Given the description of an element on the screen output the (x, y) to click on. 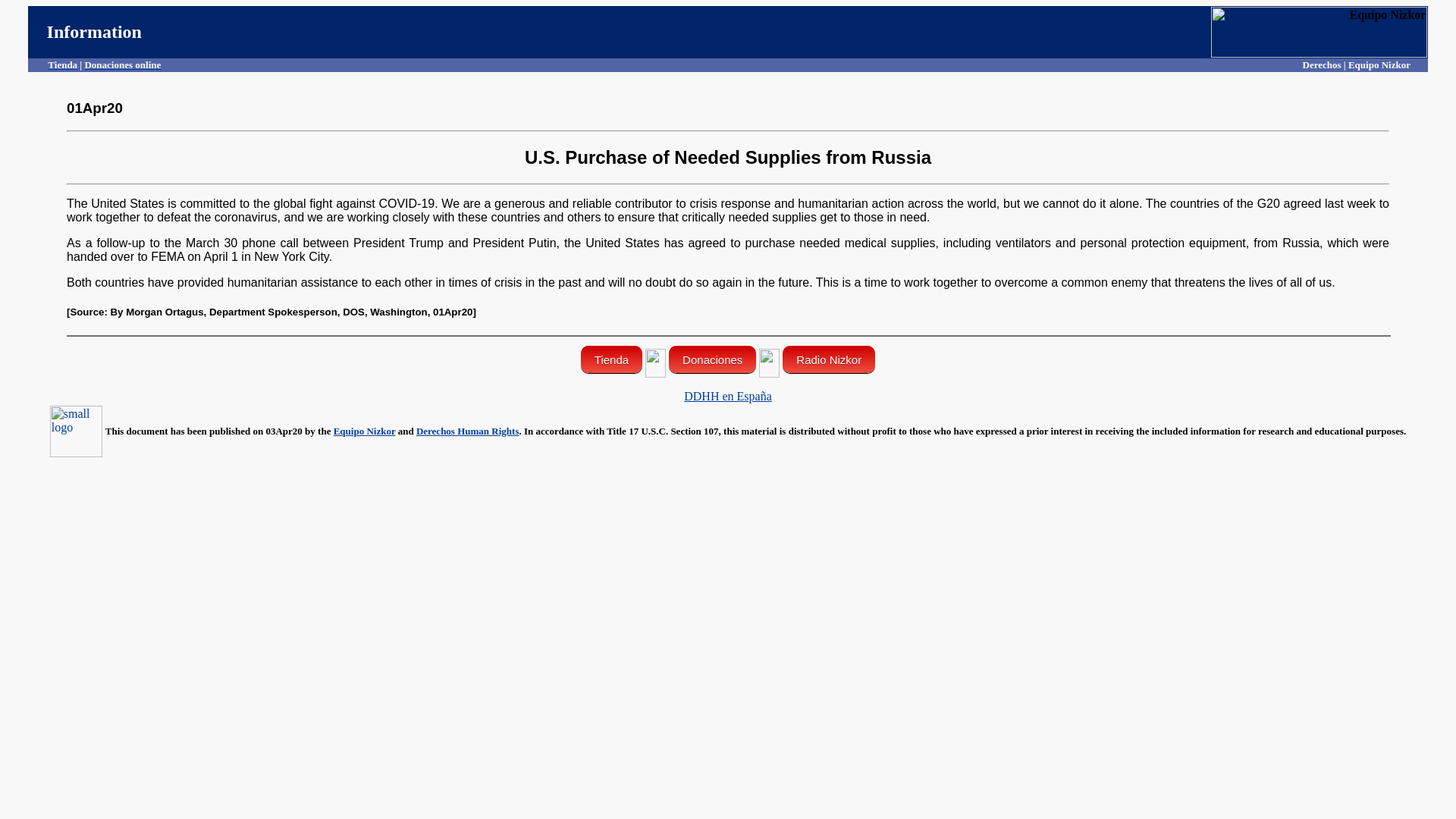
Equipo Nizkor (364, 430)
Donaciones online (122, 64)
Donaciones (711, 359)
Derechos Human Rights (467, 430)
Radio Nizkor (829, 359)
Tienda (611, 359)
Tienda (62, 64)
